Given the description of an element on the screen output the (x, y) to click on. 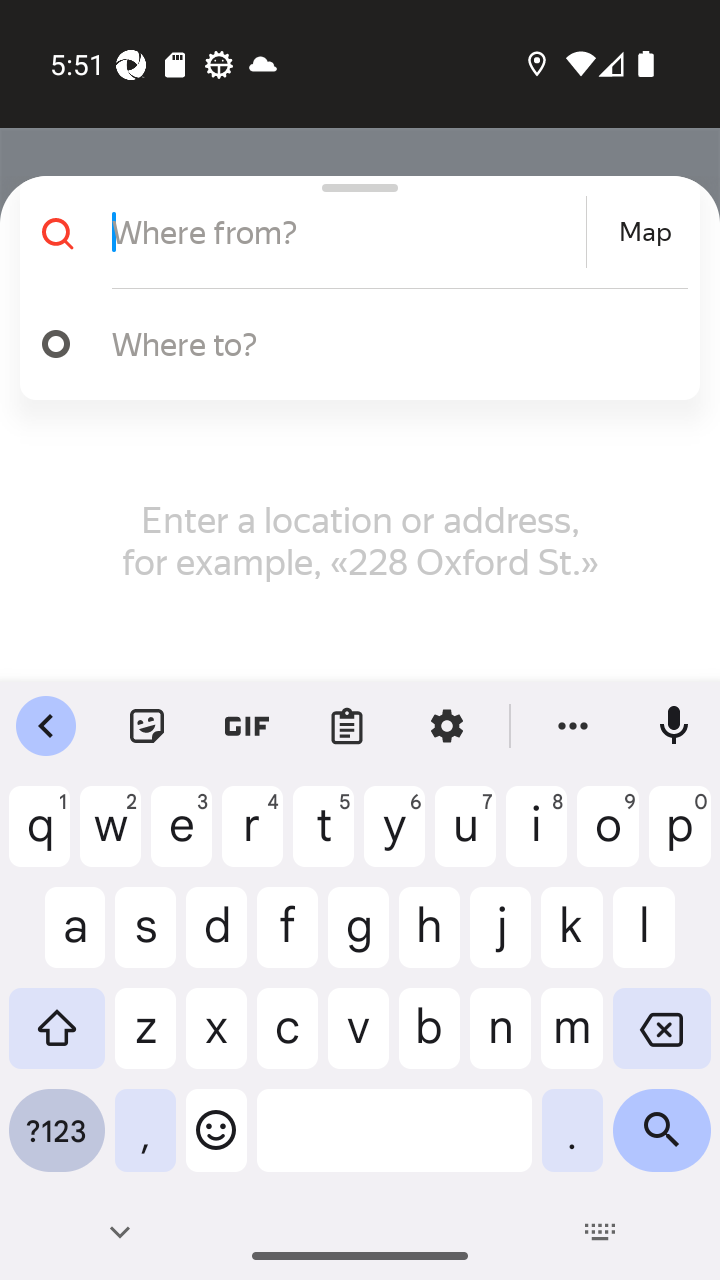
Where from? Map Map (352, 232)
Map (645, 232)
Where from? (346, 232)
Where to? (352, 343)
Where to? (390, 343)
